Given the description of an element on the screen output the (x, y) to click on. 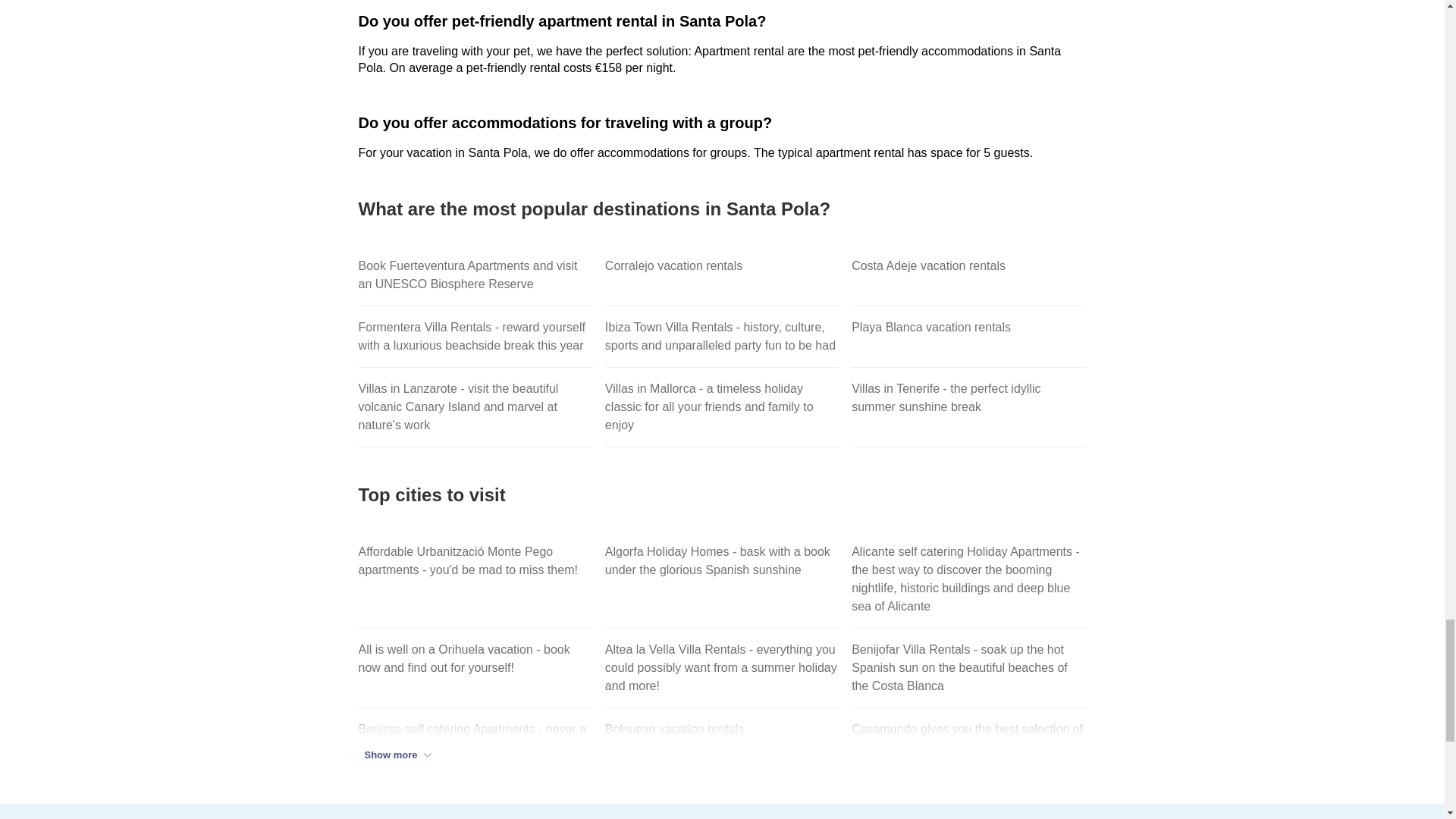
Costa Adeje vacation rentals (968, 275)
Costa Adeje vacation rentals (968, 275)
